Given the description of an element on the screen output the (x, y) to click on. 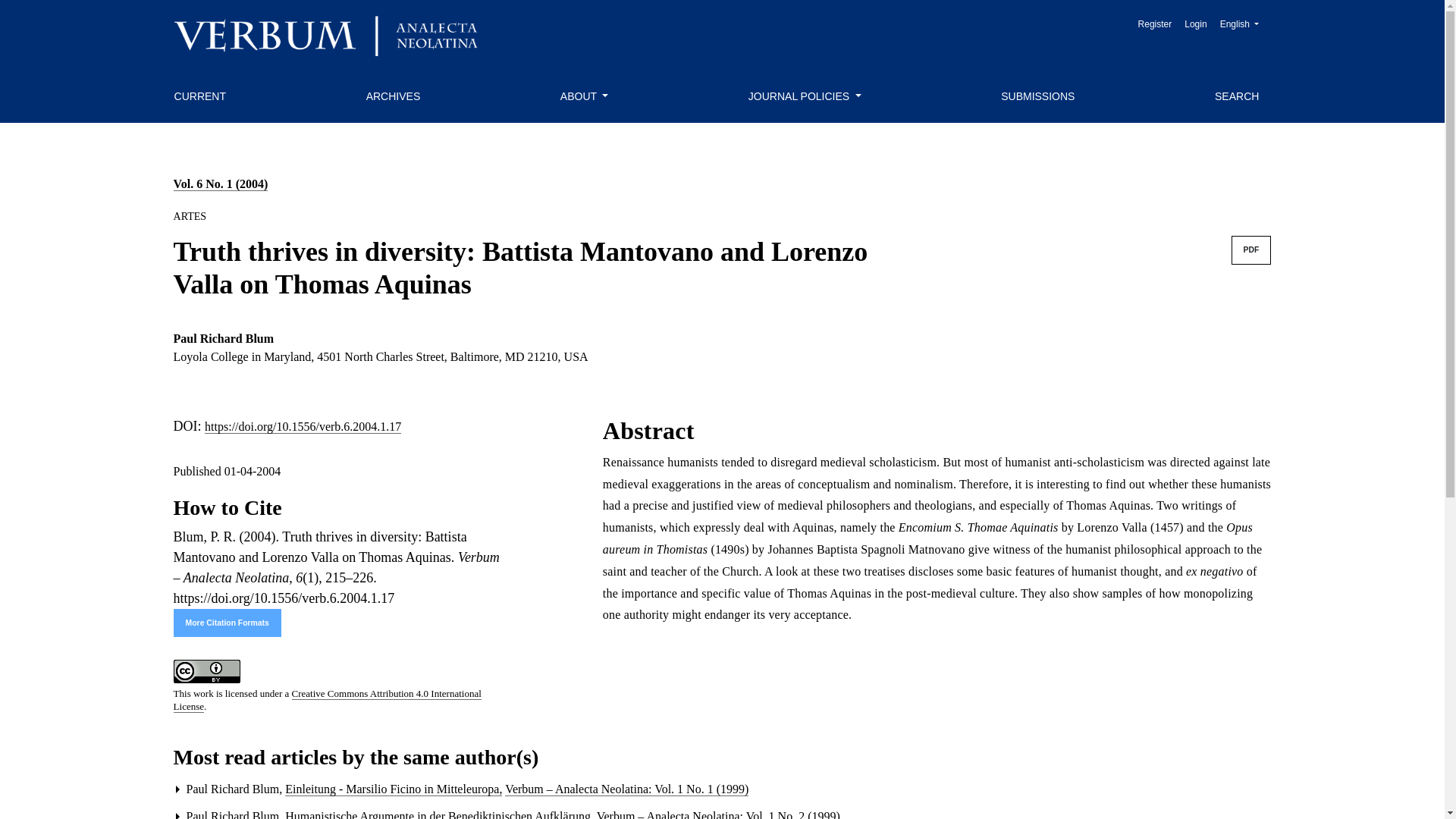
CURRENT (1239, 24)
More Citation Formats (199, 96)
SEARCH (227, 623)
ABOUT (1236, 96)
ARCHIVES (584, 96)
Login (392, 96)
Register (1195, 24)
JOURNAL POLICIES (1155, 24)
PDF (804, 96)
SUBMISSIONS (1251, 249)
